Given the description of an element on the screen output the (x, y) to click on. 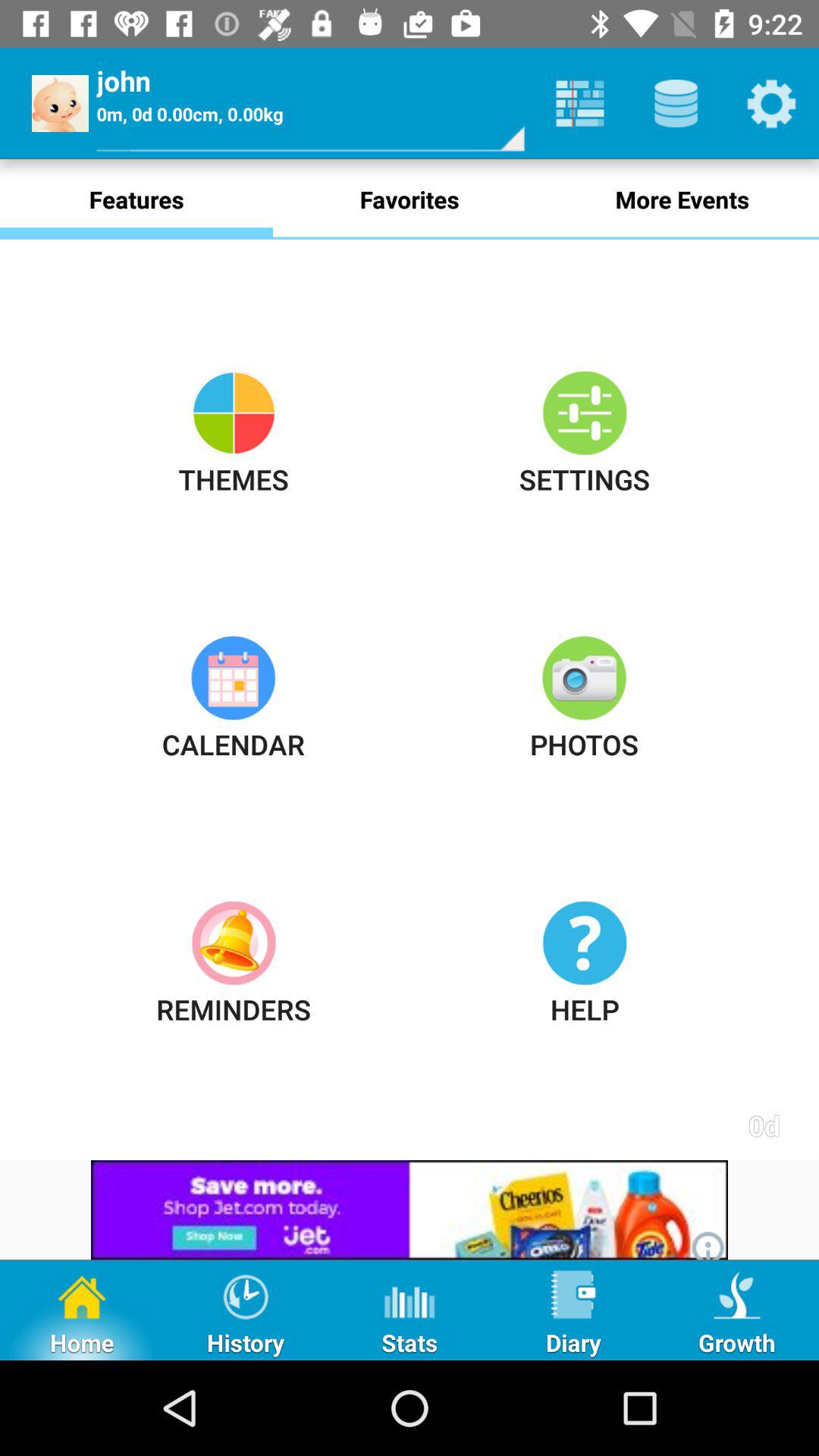
settings (771, 103)
